Given the description of an element on the screen output the (x, y) to click on. 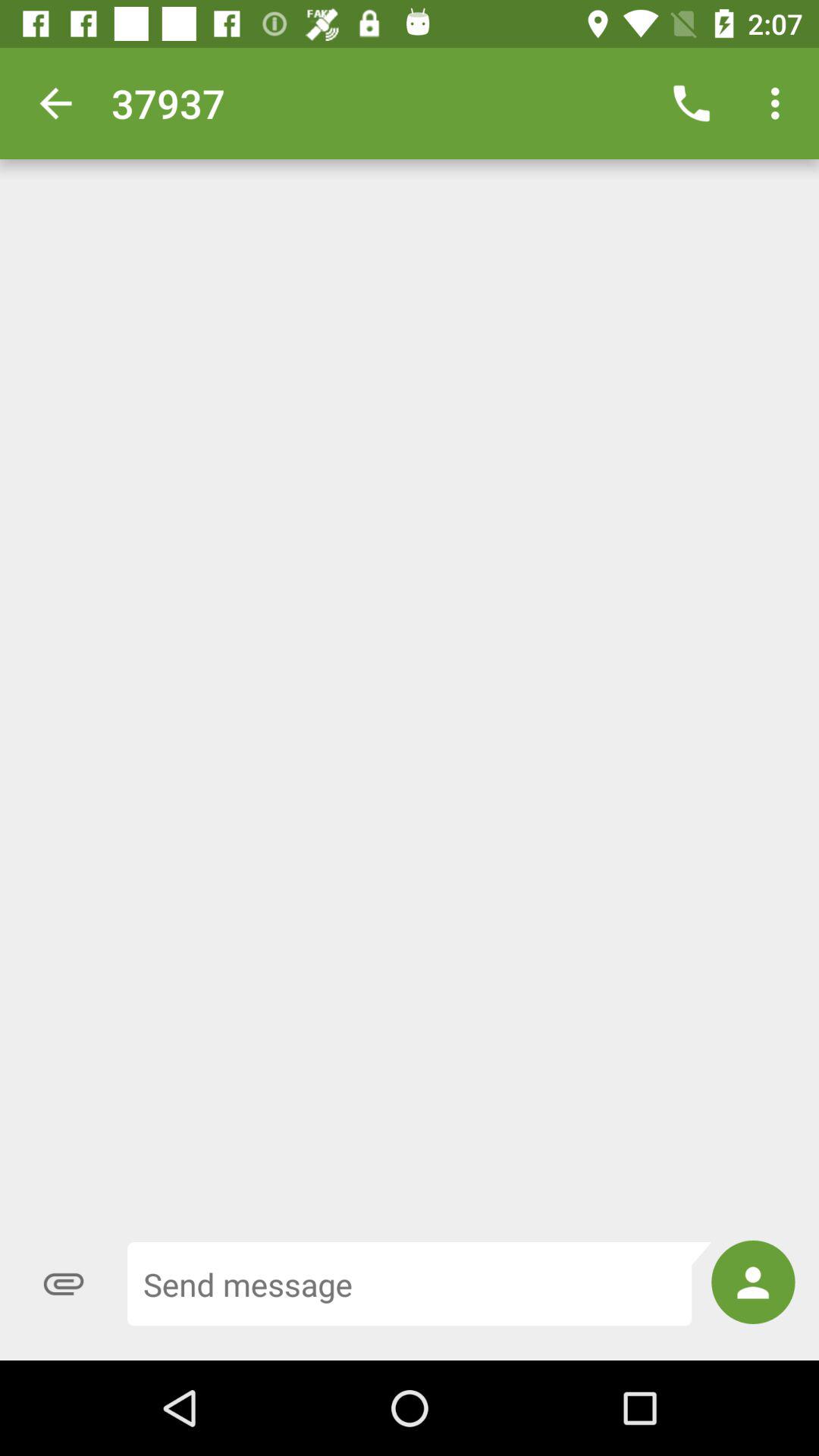
turn on icon to the left of the 37937 icon (55, 103)
